Given the description of an element on the screen output the (x, y) to click on. 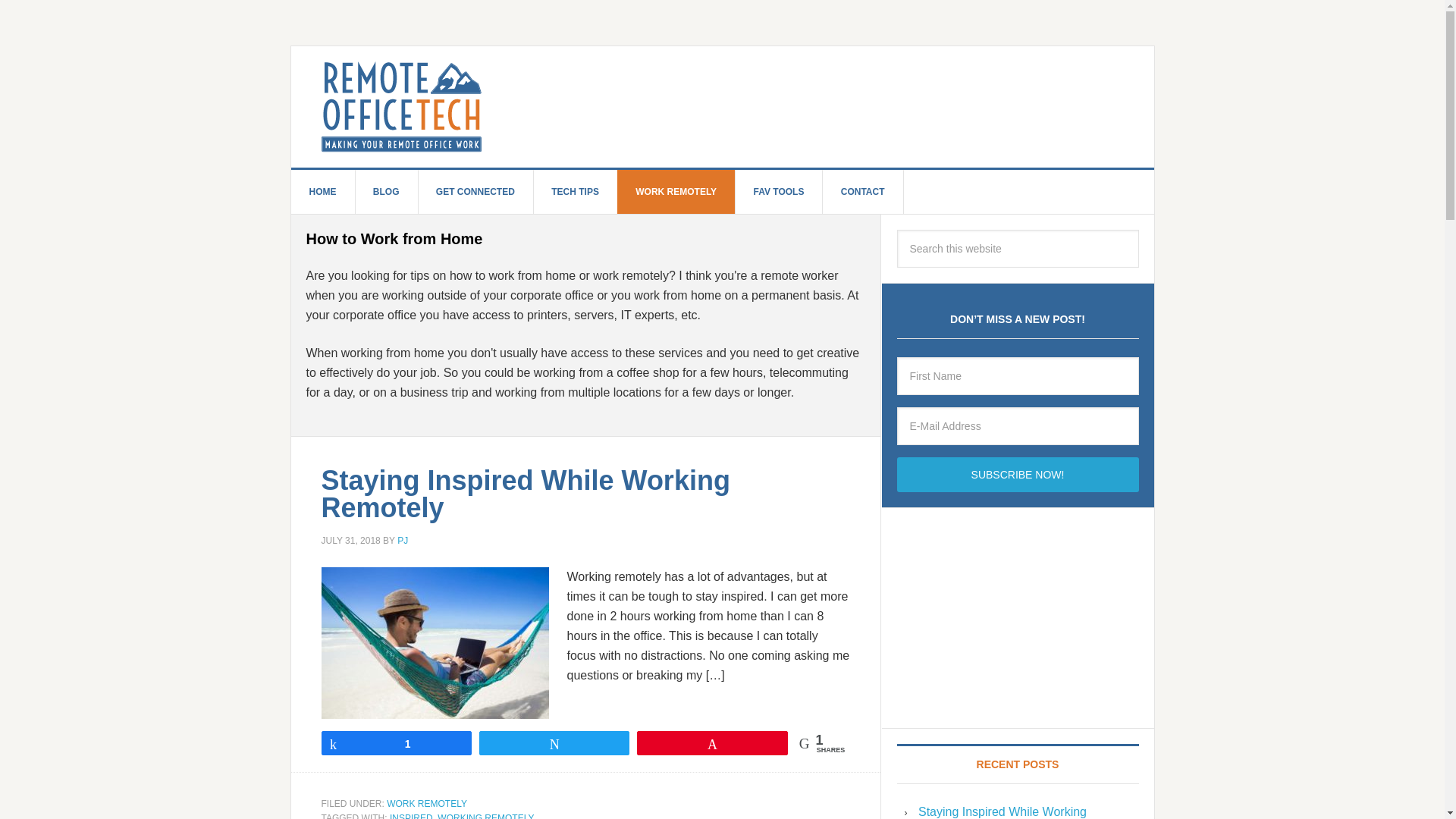
CONTACT (863, 191)
GET CONNECTED (475, 191)
1 (395, 742)
HOME (323, 191)
INSPIRED (411, 816)
REMOTE OFFICE TECH (737, 106)
Staying Inspired While Working Remotely (525, 494)
TECH TIPS (574, 191)
